Given the description of an element on the screen output the (x, y) to click on. 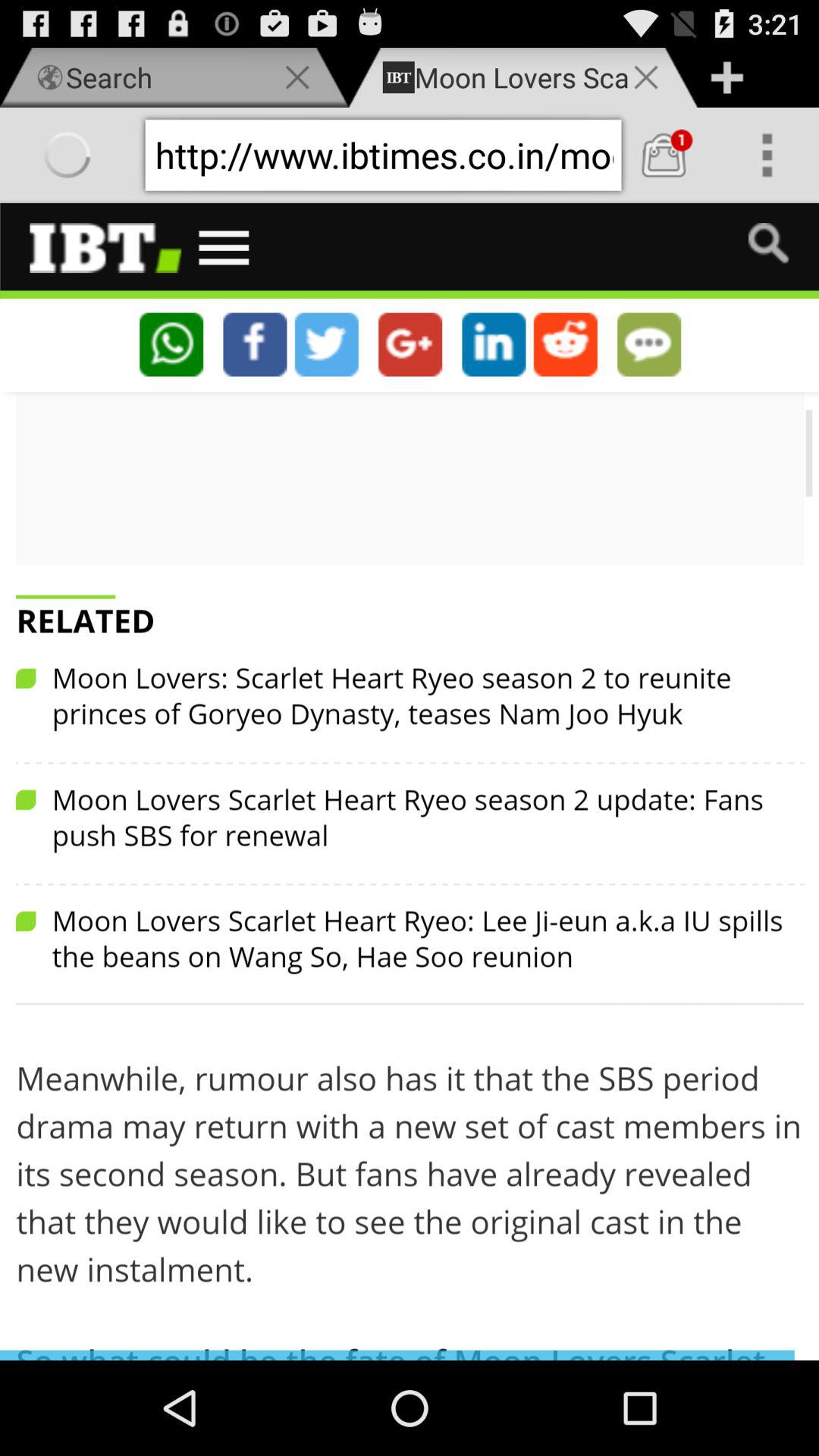
swipe screen (409, 781)
